Given the description of an element on the screen output the (x, y) to click on. 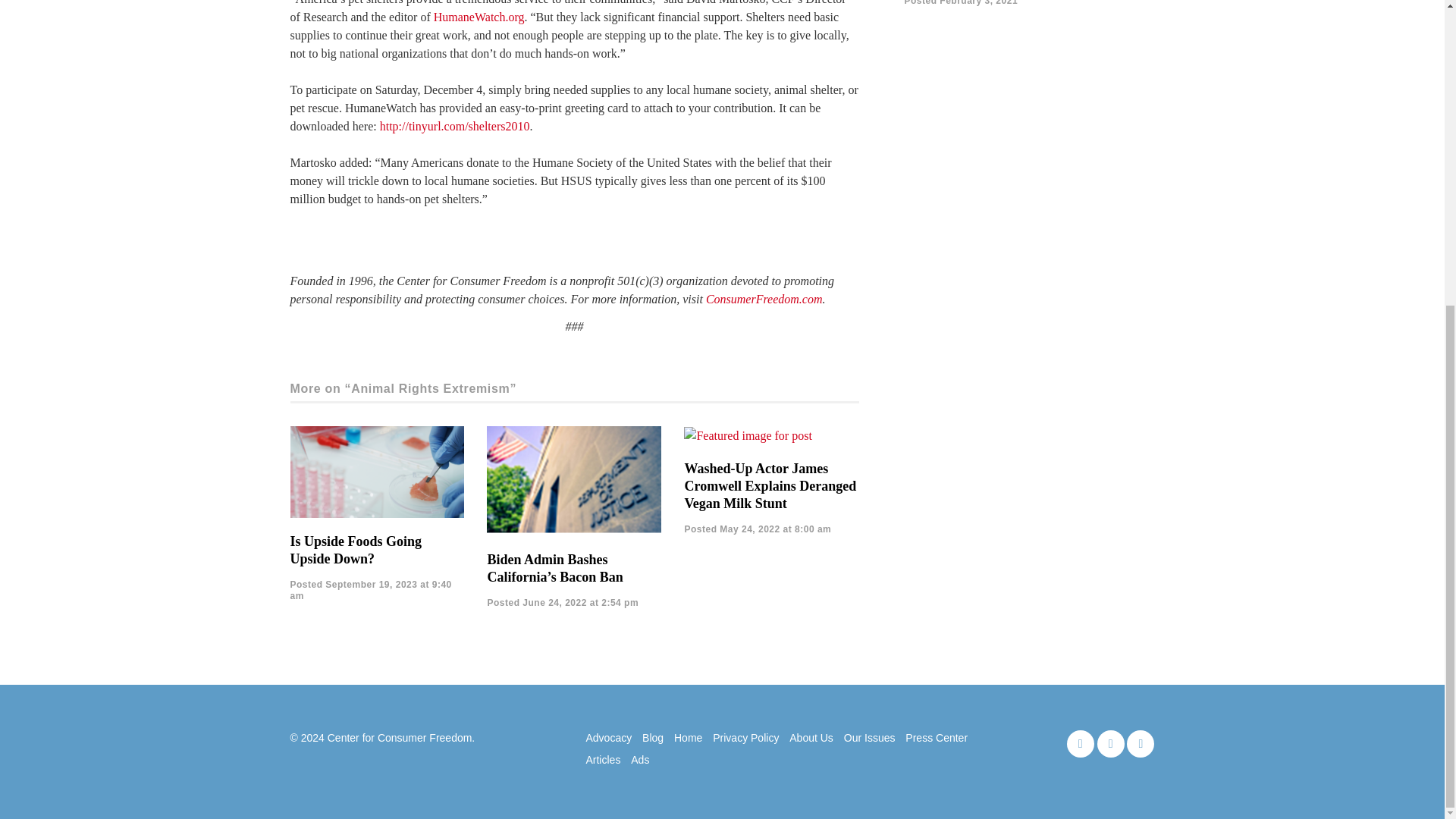
Is Upside Foods Going Upside Down? (355, 549)
HumaneWatch.org (478, 16)
Advocacy (608, 738)
ConsumerFreedom.com (764, 298)
